Given the description of an element on the screen output the (x, y) to click on. 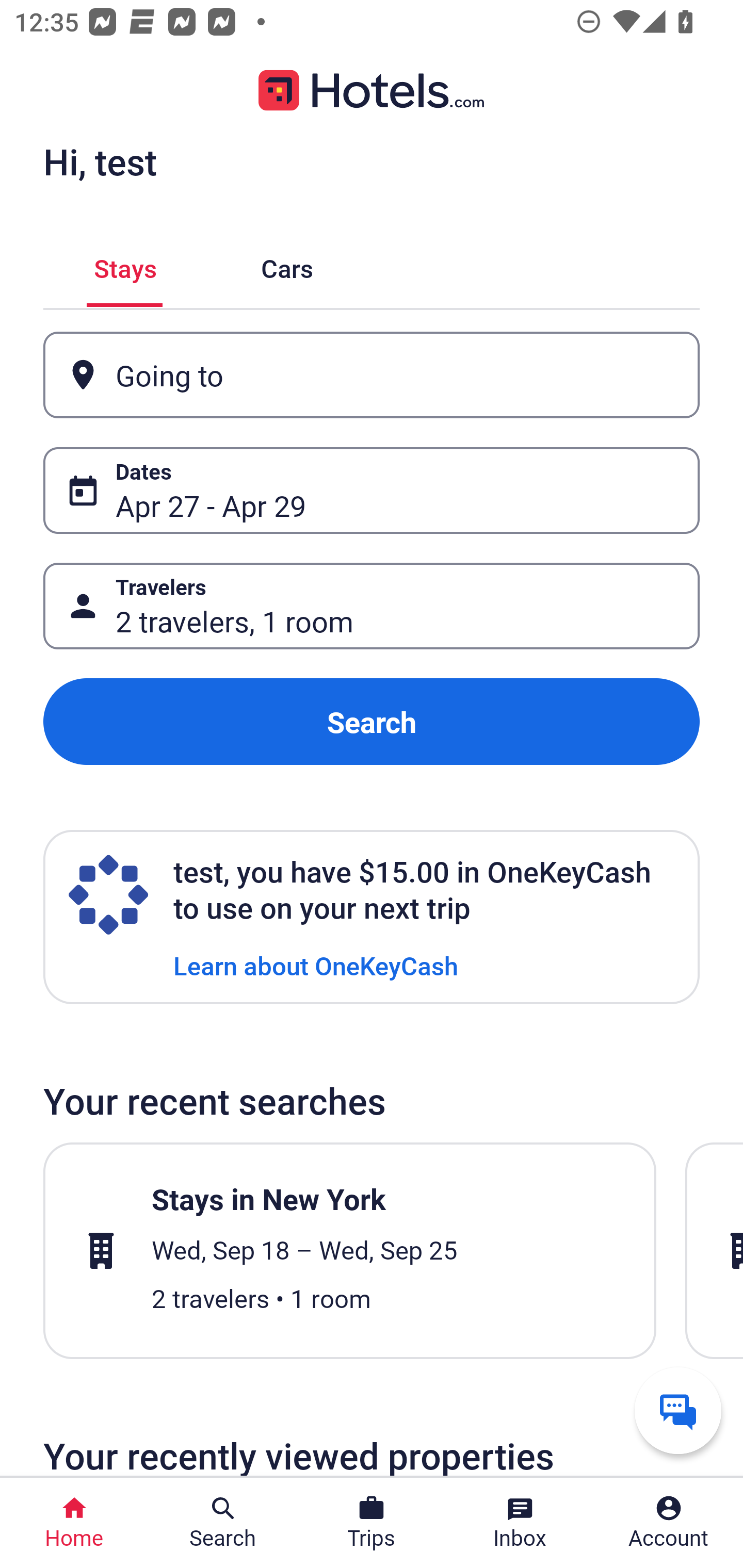
Hi, test (99, 161)
Cars (286, 265)
Going to Button (371, 375)
Dates Button Apr 27 - Apr 29 (371, 489)
Travelers Button 2 travelers, 1 room (371, 605)
Search (371, 721)
Learn about OneKeyCash Learn about OneKeyCash Link (315, 964)
Get help from a virtual agent (677, 1410)
Search Search Button (222, 1522)
Trips Trips Button (371, 1522)
Inbox Inbox Button (519, 1522)
Account Profile. Button (668, 1522)
